Given the description of an element on the screen output the (x, y) to click on. 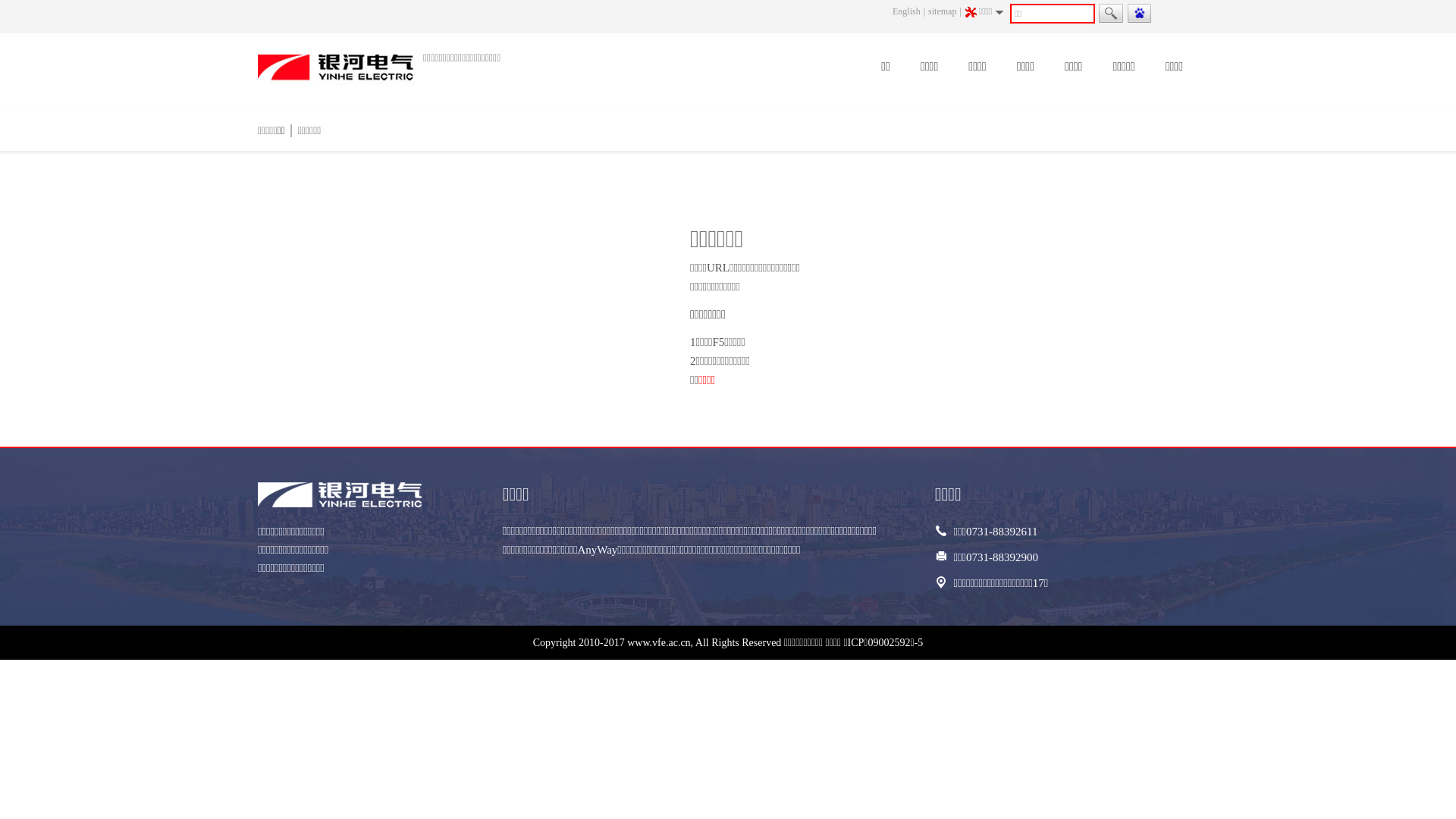
English Element type: text (906, 10)
sitemap Element type: text (942, 10)
